Given the description of an element on the screen output the (x, y) to click on. 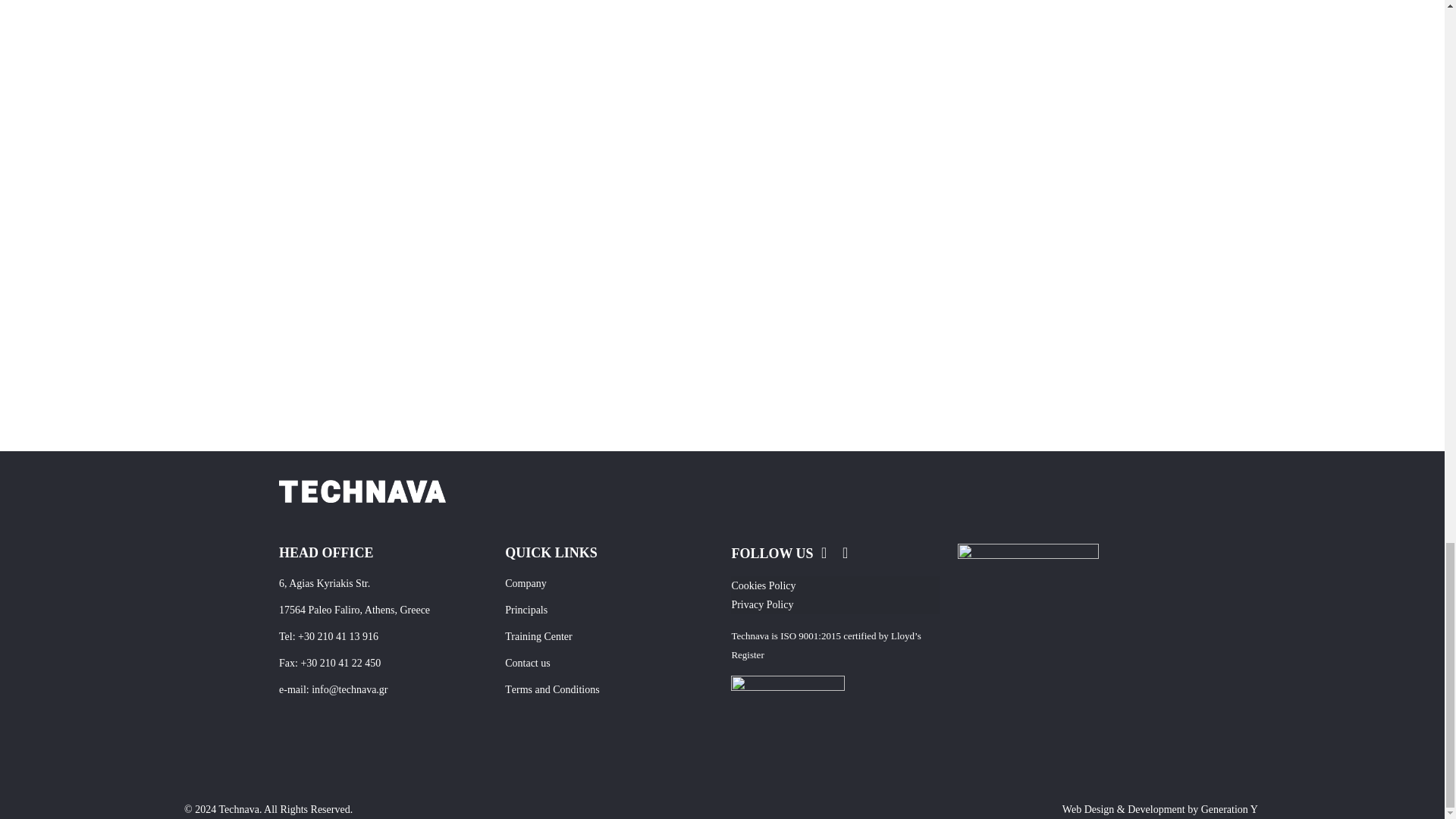
LinkedIn (845, 554)
Facebook (823, 554)
